Given the description of an element on the screen output the (x, y) to click on. 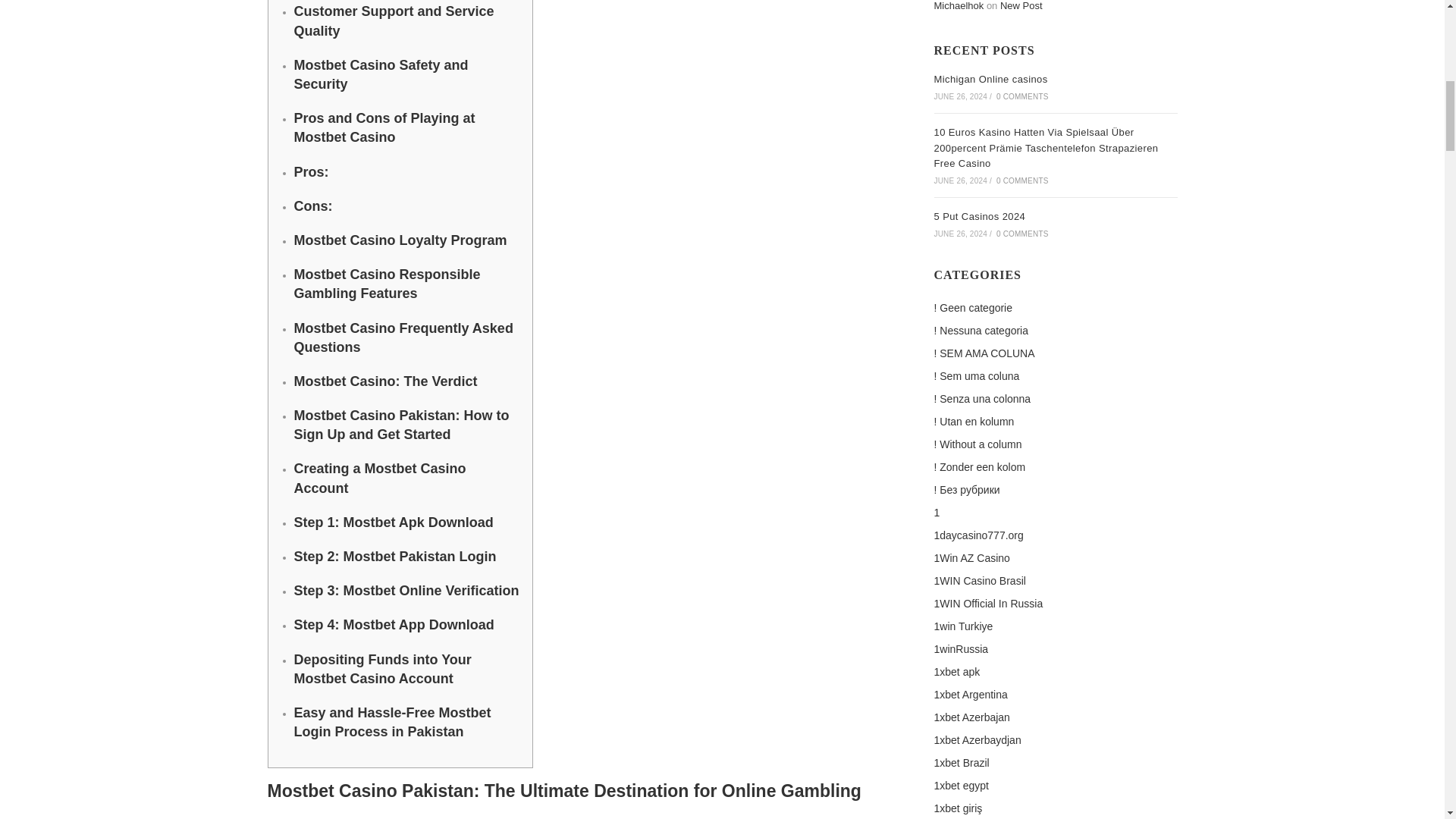
5 Put Casinos 2024 (980, 215)
Easy and Hassle-Free Mostbet Login Process in Pakistan (393, 722)
Mostbet Casino Safety and Security (381, 74)
Mostbet Casino Responsible Gambling Features (387, 283)
Depositing Funds into Your Mostbet Casino Account (382, 668)
Step 1: Mostbet Apk Download (393, 522)
Step 4: Mostbet App Download (394, 624)
Step 2: Mostbet Pakistan Login (395, 556)
Step 3: Mostbet Online Verification (406, 590)
Creating a Mostbet Casino Account (379, 478)
